Given the description of an element on the screen output the (x, y) to click on. 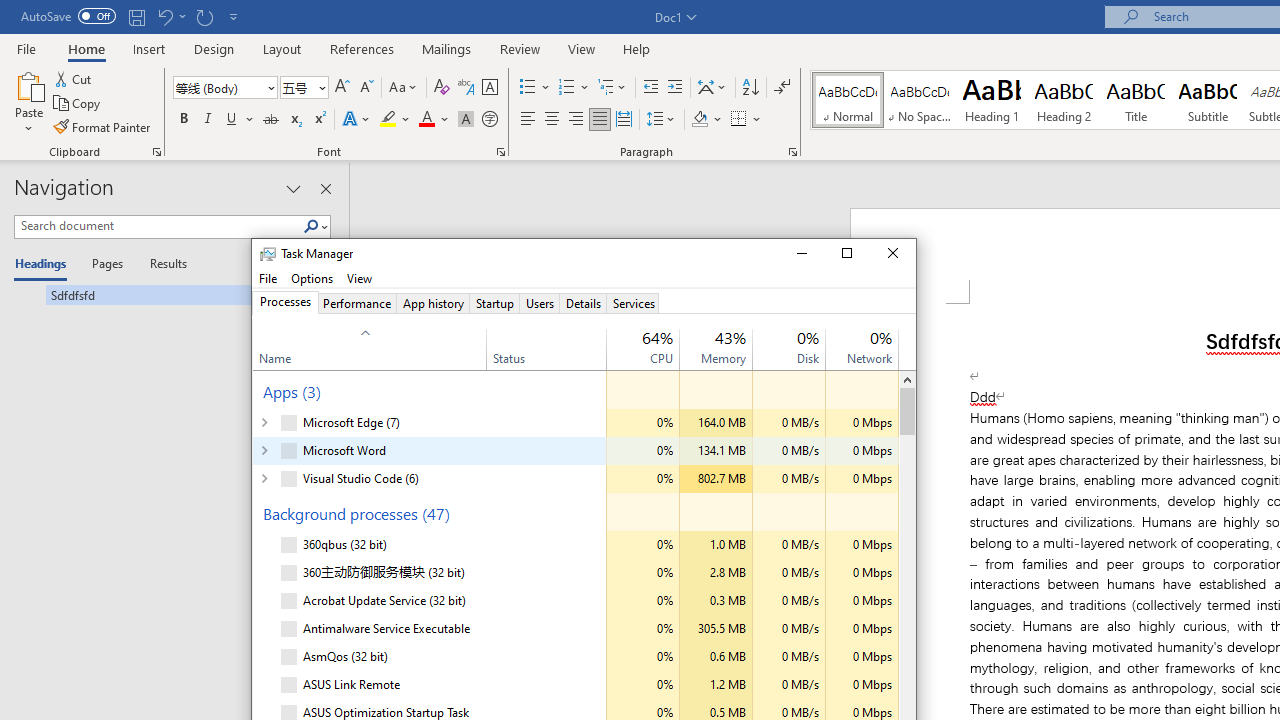
Processes (285, 303)
CPU (642, 685)
Services (633, 303)
File (268, 278)
